Given the description of an element on the screen output the (x, y) to click on. 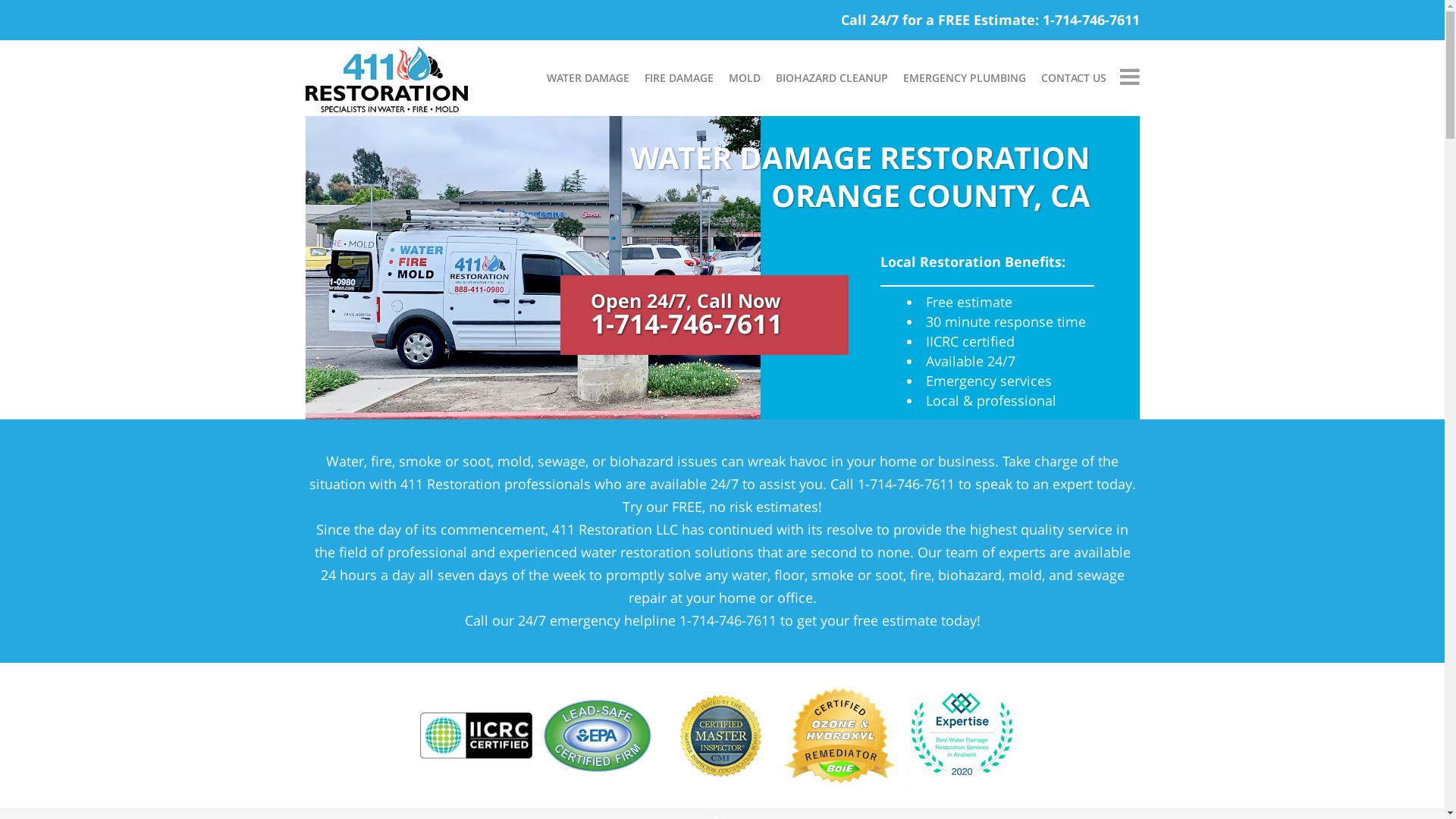
BIOHAZARD CLEANUP Element type: text (830, 78)
EMERGENCY PLUMBING Element type: text (963, 78)
WATER DAMAGE Element type: text (587, 78)
1-714-746-7611 Element type: text (1090, 19)
FIRE DAMAGE Element type: text (679, 78)
CONTACT US Element type: text (1072, 78)
MOLD Element type: text (743, 78)
